Given the description of an element on the screen output the (x, y) to click on. 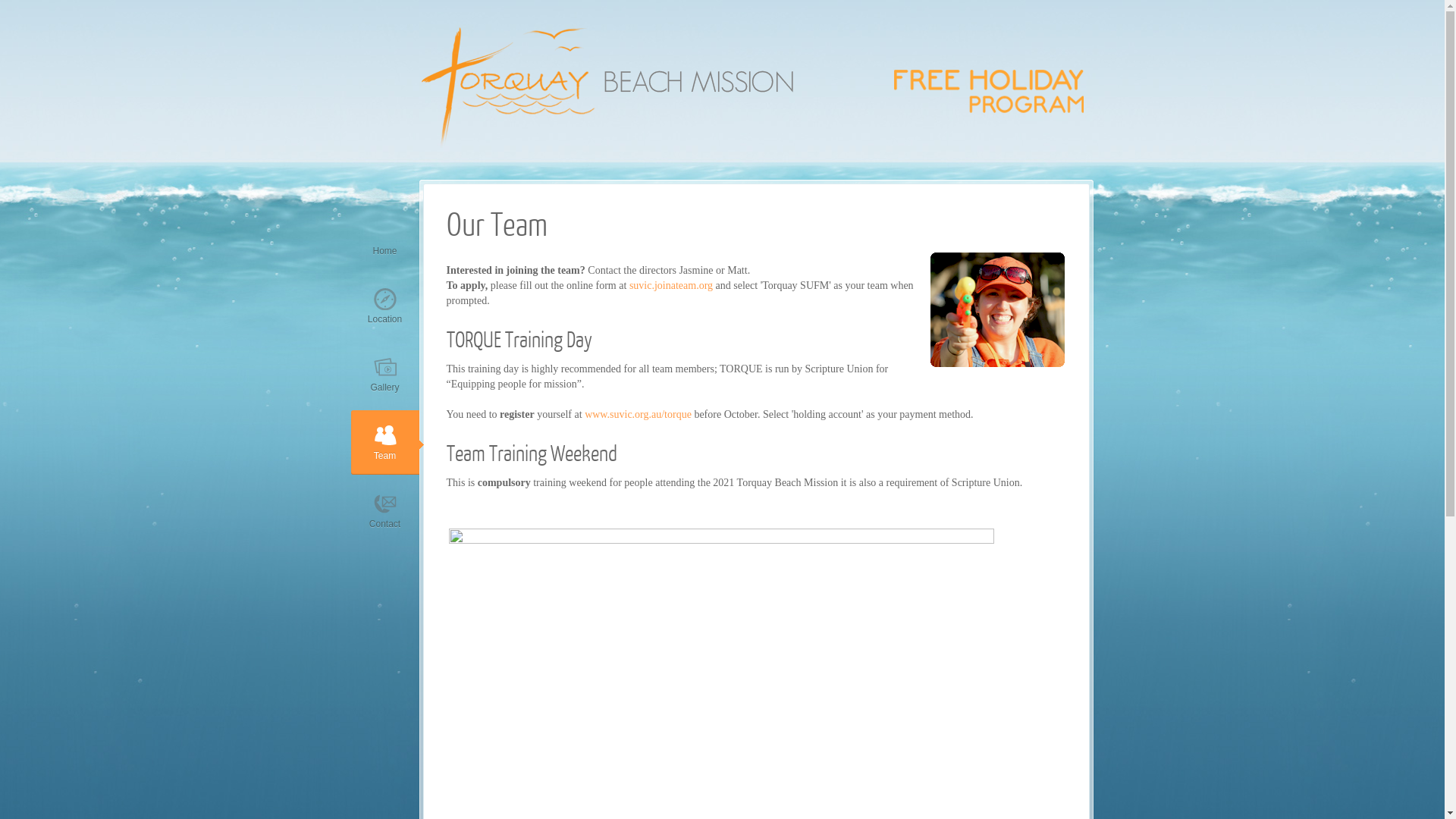
Home Element type: text (384, 237)
Team Element type: text (384, 442)
Gallery Element type: text (384, 374)
www.suvic.org.au/torque Element type: text (637, 414)
Contact Element type: text (384, 510)
suvic.joinateam.org Element type: text (670, 285)
Location Element type: text (384, 305)
